Given the description of an element on the screen output the (x, y) to click on. 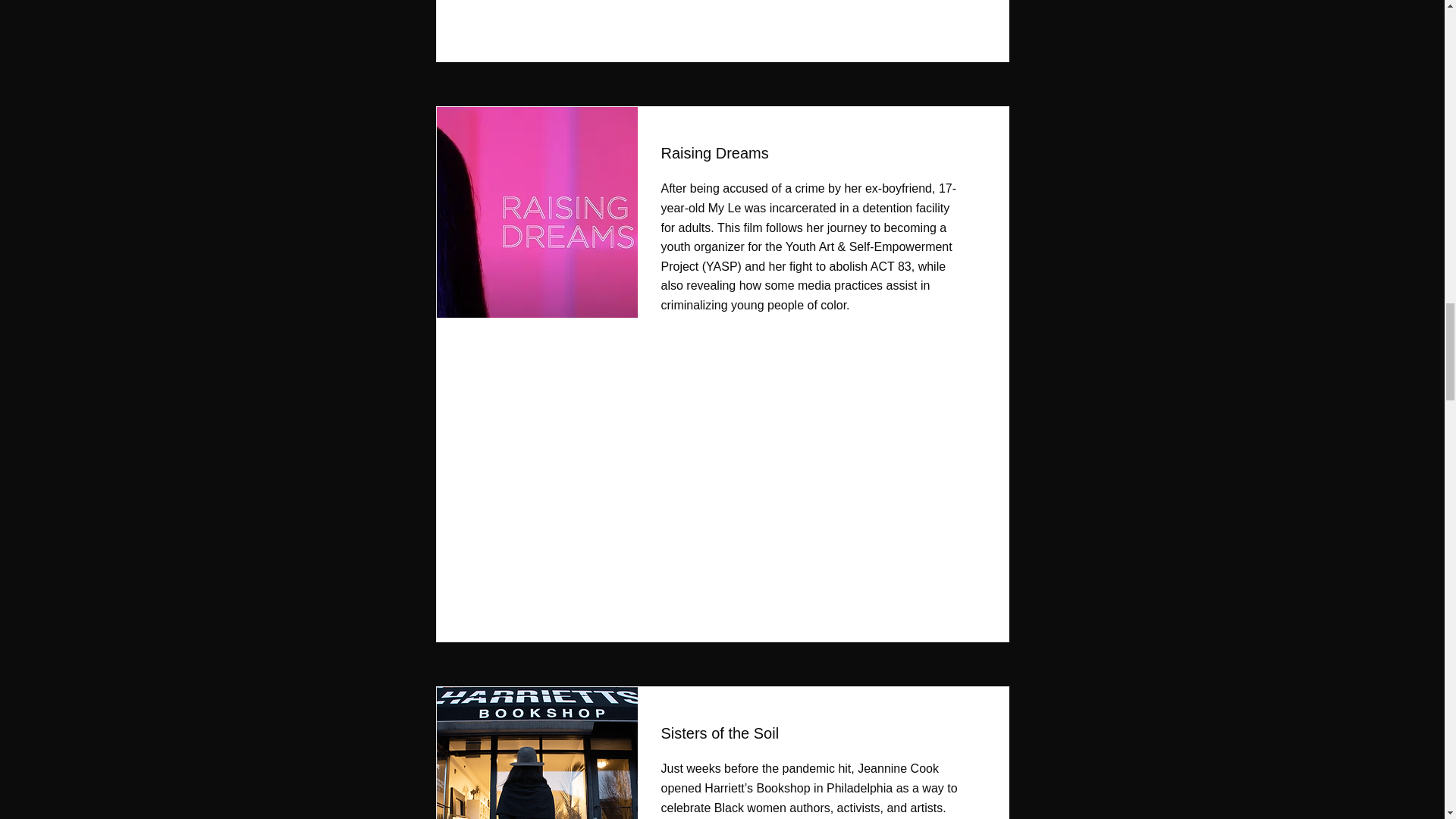
Harrietts-min.png (531, 753)
